Given the description of an element on the screen output the (x, y) to click on. 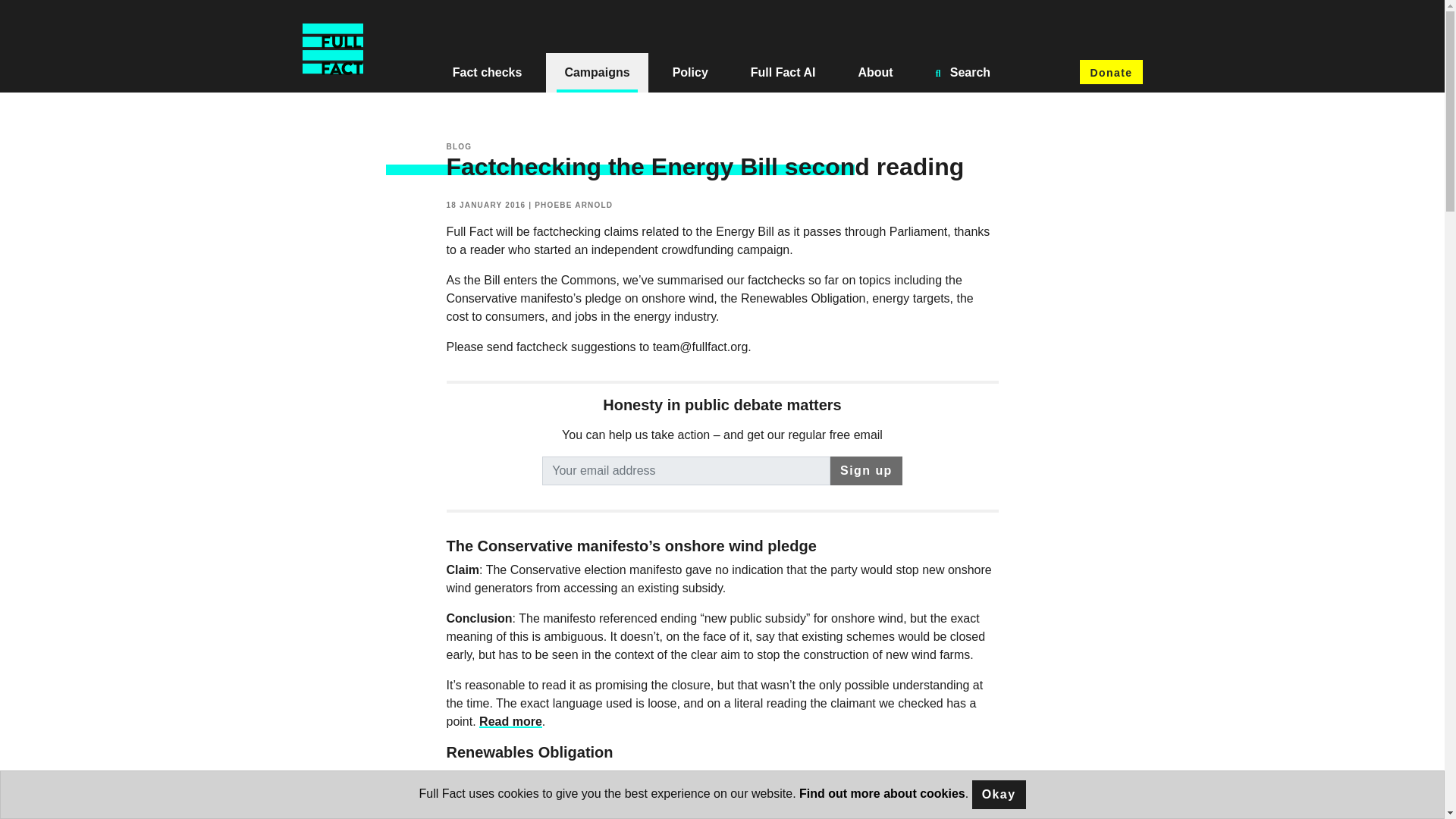
Policy (689, 72)
Donate (1110, 71)
About (875, 72)
Full Fact AI (783, 72)
Fact checks (486, 72)
Campaigns (596, 72)
